Given the description of an element on the screen output the (x, y) to click on. 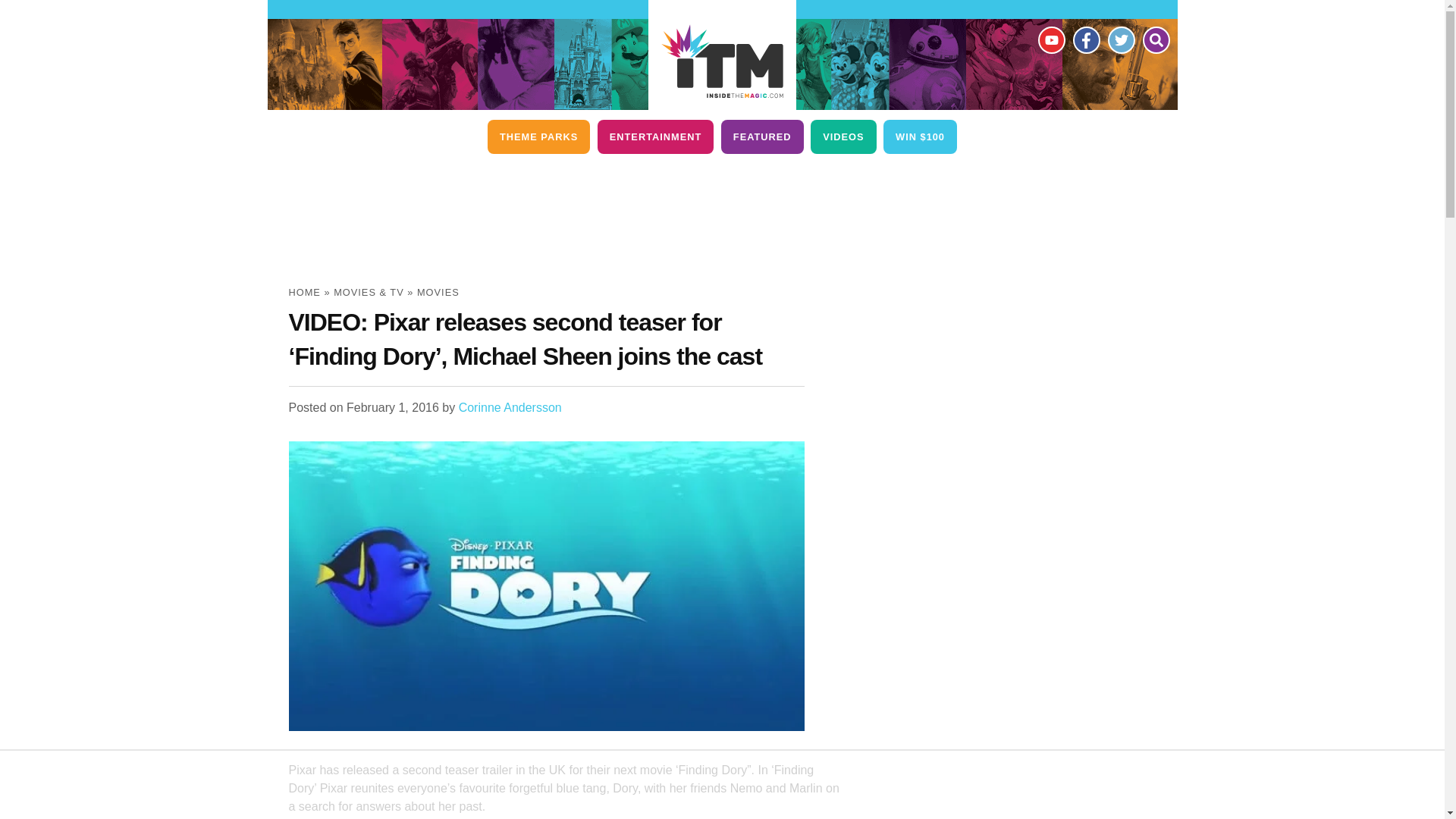
ENTERTAINMENT (655, 136)
Twitter (1120, 40)
Search (1155, 40)
THEME PARKS (538, 136)
Facebook (1085, 40)
YouTube (1050, 40)
FEATURED (761, 136)
